Given the description of an element on the screen output the (x, y) to click on. 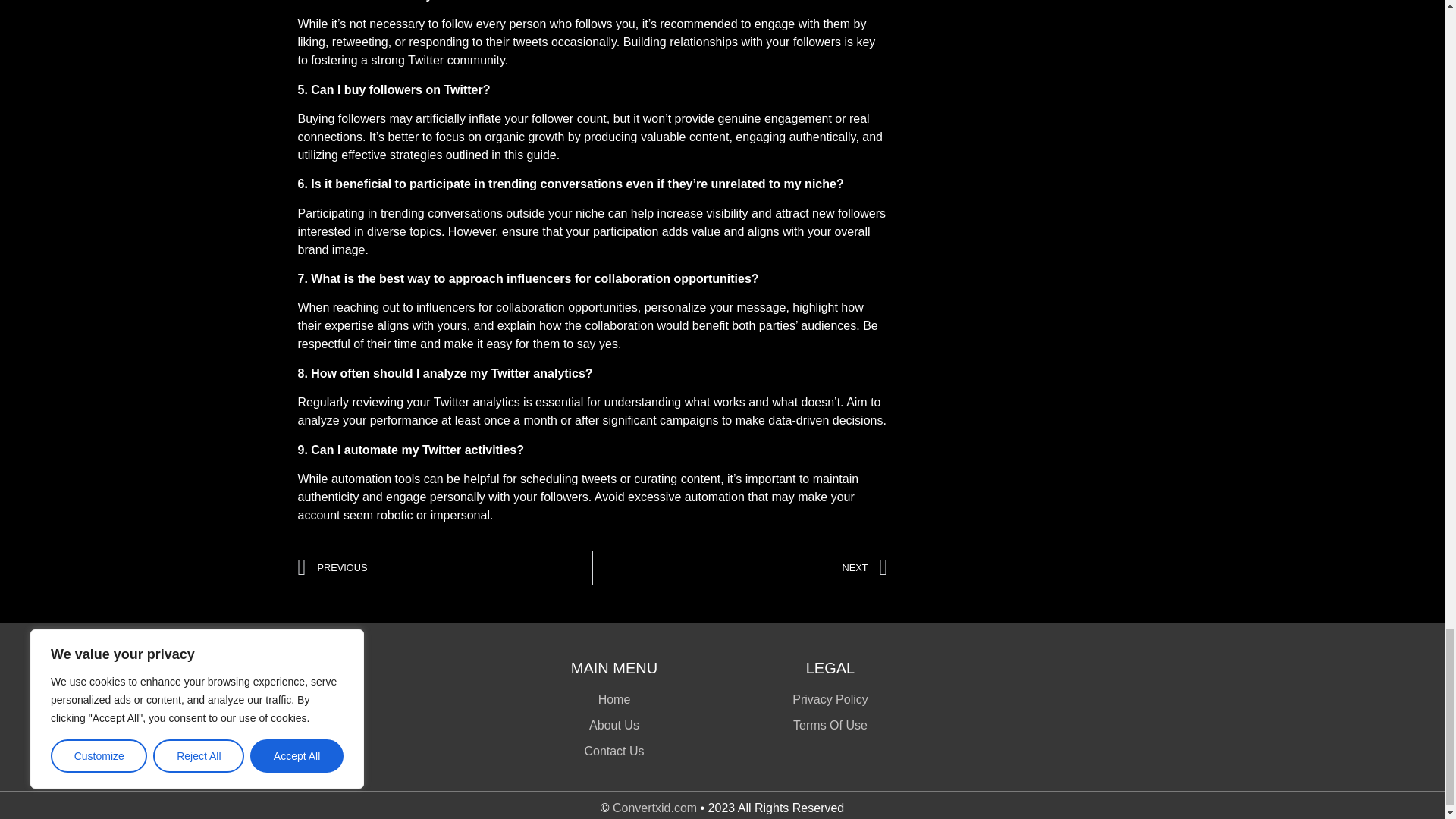
NEXT (740, 567)
Terms Of Use (829, 725)
Convertxid.com (654, 807)
Contact Us (613, 751)
About Us (613, 725)
PREVIOUS (444, 567)
Home (613, 700)
Privacy Policy (829, 700)
